Given the description of an element on the screen output the (x, y) to click on. 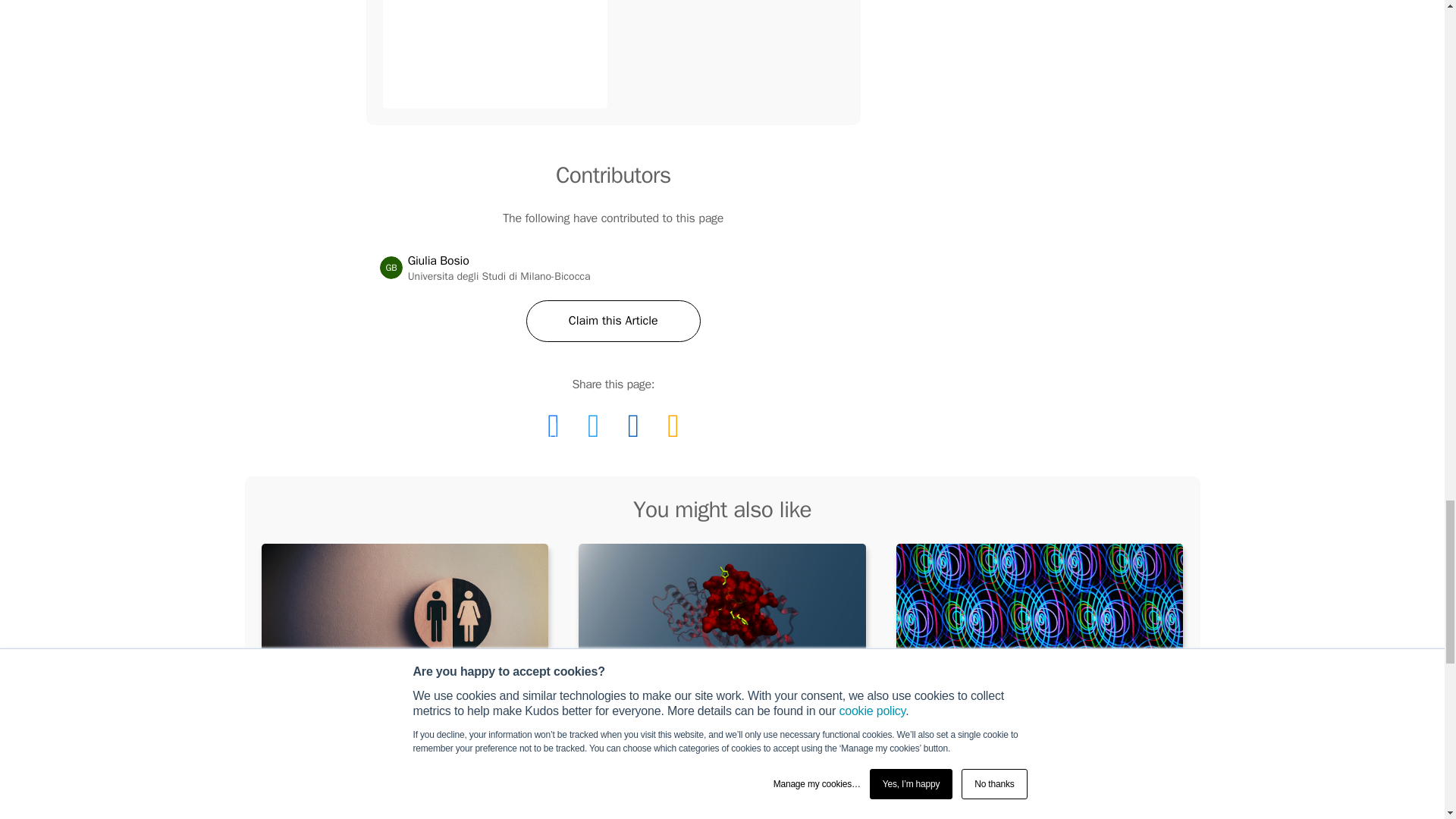
Claim this Article (612, 321)
Quantum Barkhausen noise induced by domain wall cotunneling (494, 54)
Share this page via email (391, 267)
Proceedings of the National Academy of Sciences (1040, 746)
Share this page via Facebook (672, 425)
Share this page via Twitter (707, 779)
Proceedings of the National Academy of Sciences (553, 425)
PLoS ONE (593, 425)
